Given the description of an element on the screen output the (x, y) to click on. 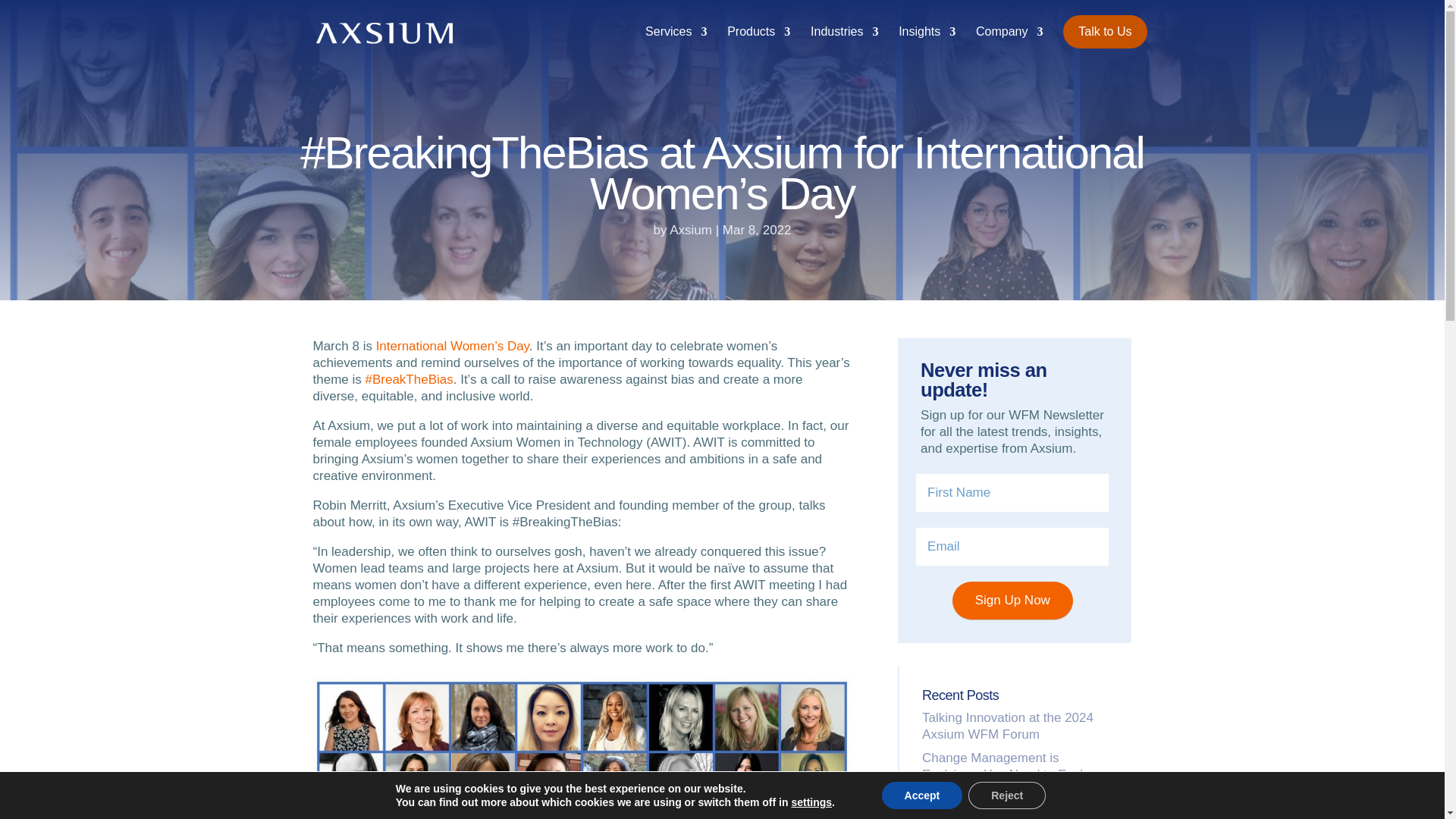
Sign Up Now (1012, 600)
Posts by Axsium (690, 229)
